Given the description of an element on the screen output the (x, y) to click on. 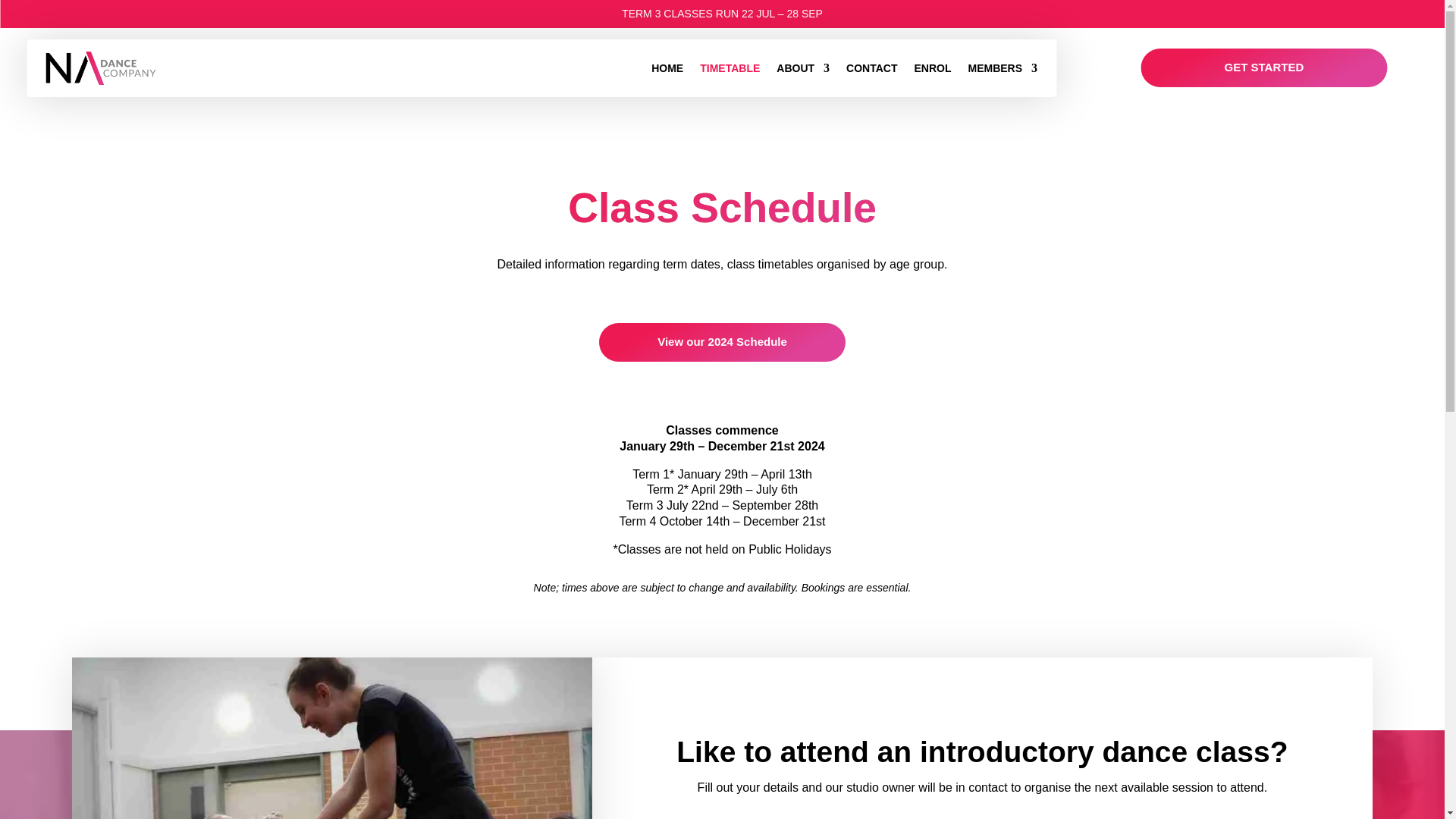
TIMETABLE (730, 68)
ABOUT (802, 68)
MEMBERS (1002, 68)
